Given the description of an element on the screen output the (x, y) to click on. 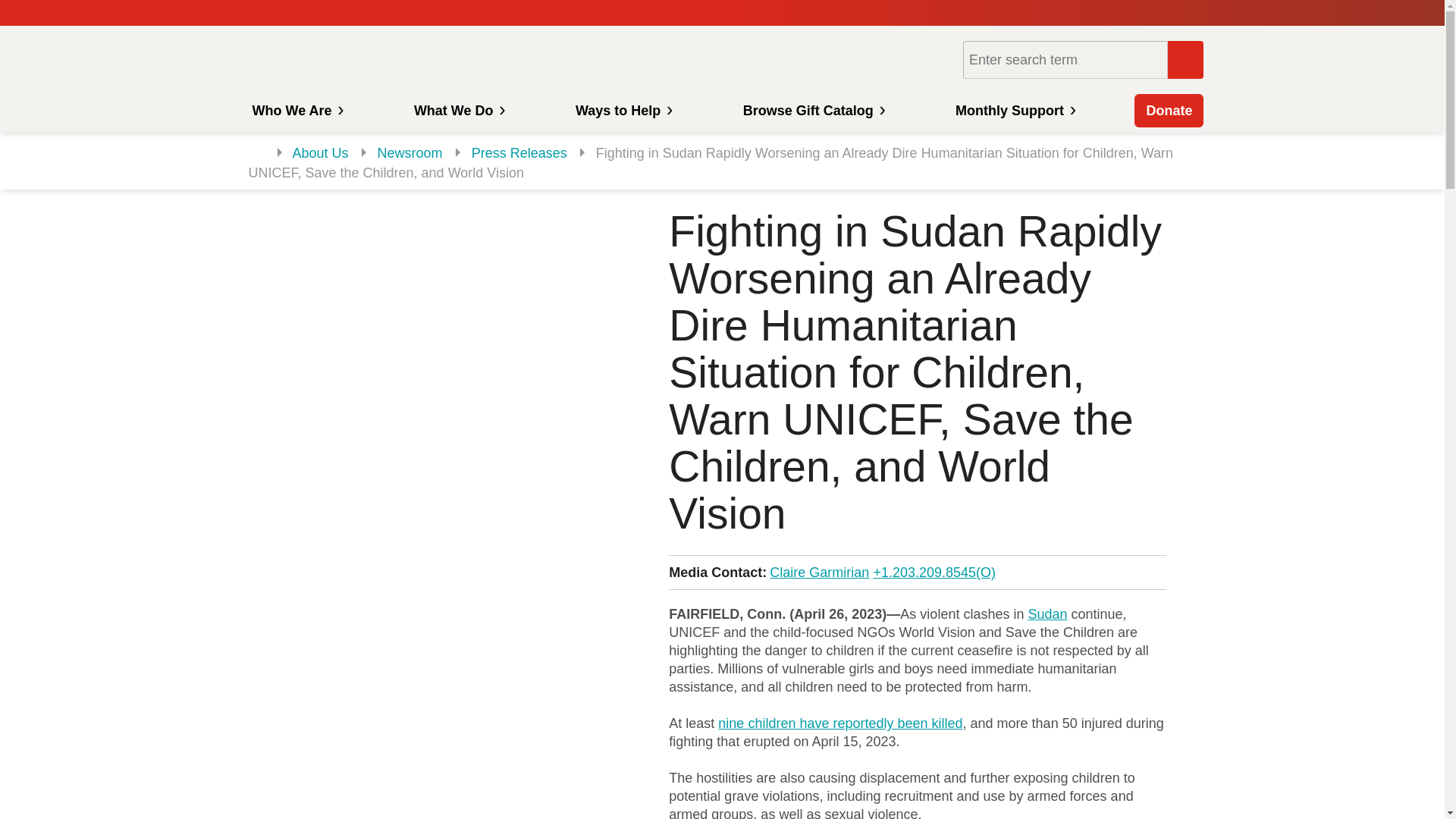
Ways to Help (621, 110)
Enter the terms you wish to search for. (1064, 59)
Who We Are (295, 110)
Search (1185, 59)
Save the Children Breaking News Graphic (438, 367)
Search (1185, 59)
Browse Gift Catalog (812, 110)
Monthly Support (1013, 110)
What We Do (458, 110)
